Given the description of an element on the screen output the (x, y) to click on. 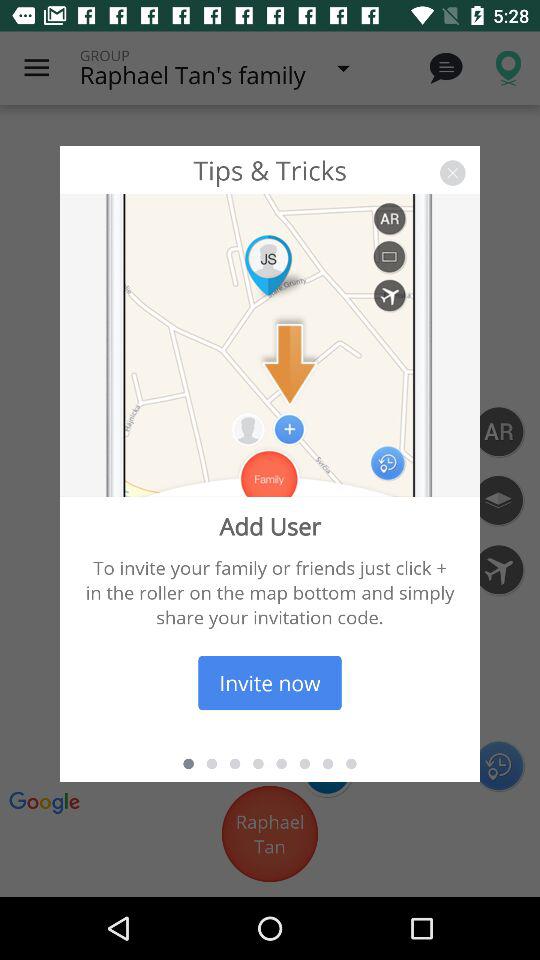
turn on the invite now (269, 682)
